Given the description of an element on the screen output the (x, y) to click on. 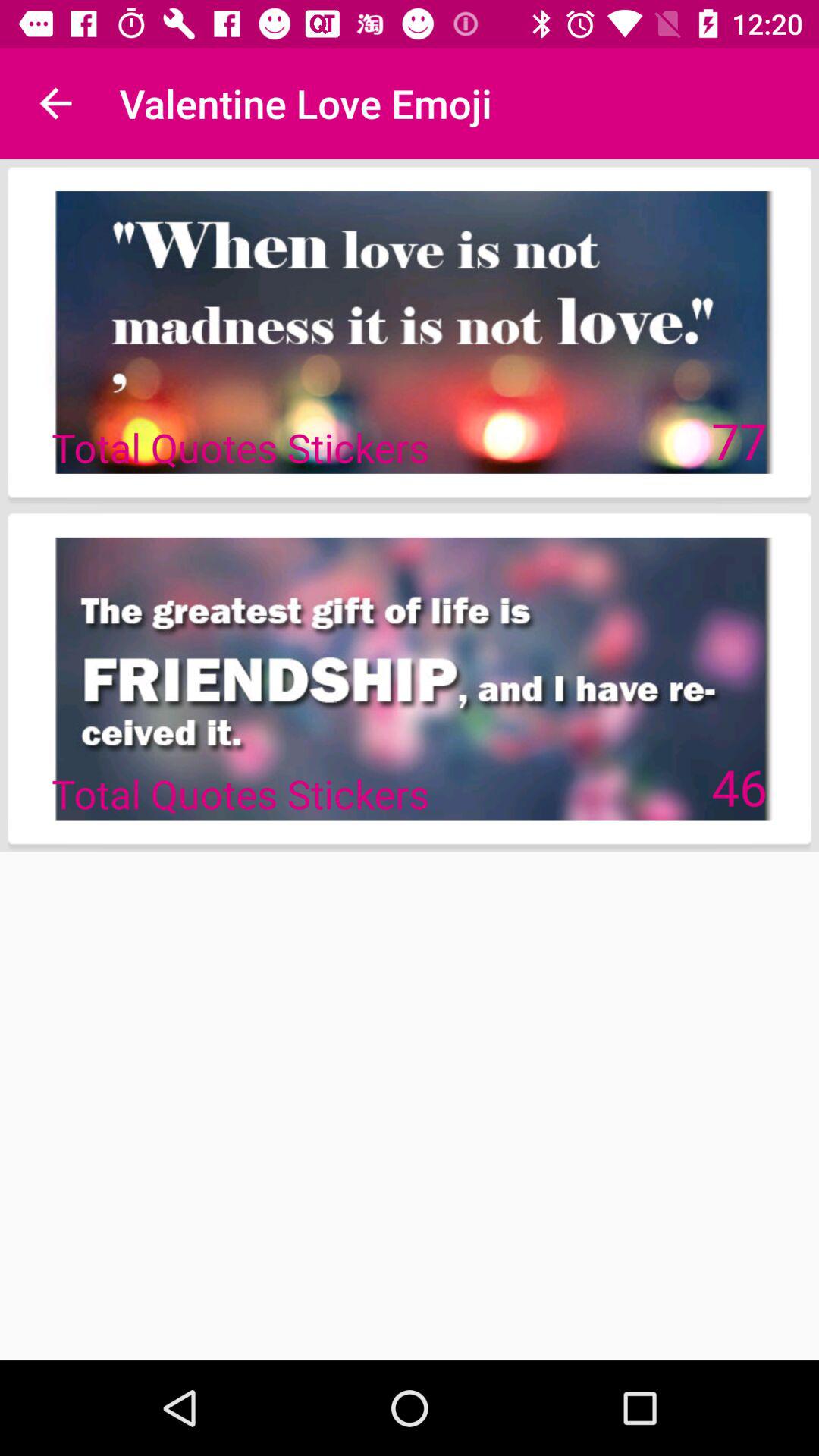
click item to the right of the total quotes stickers item (739, 440)
